Given the description of an element on the screen output the (x, y) to click on. 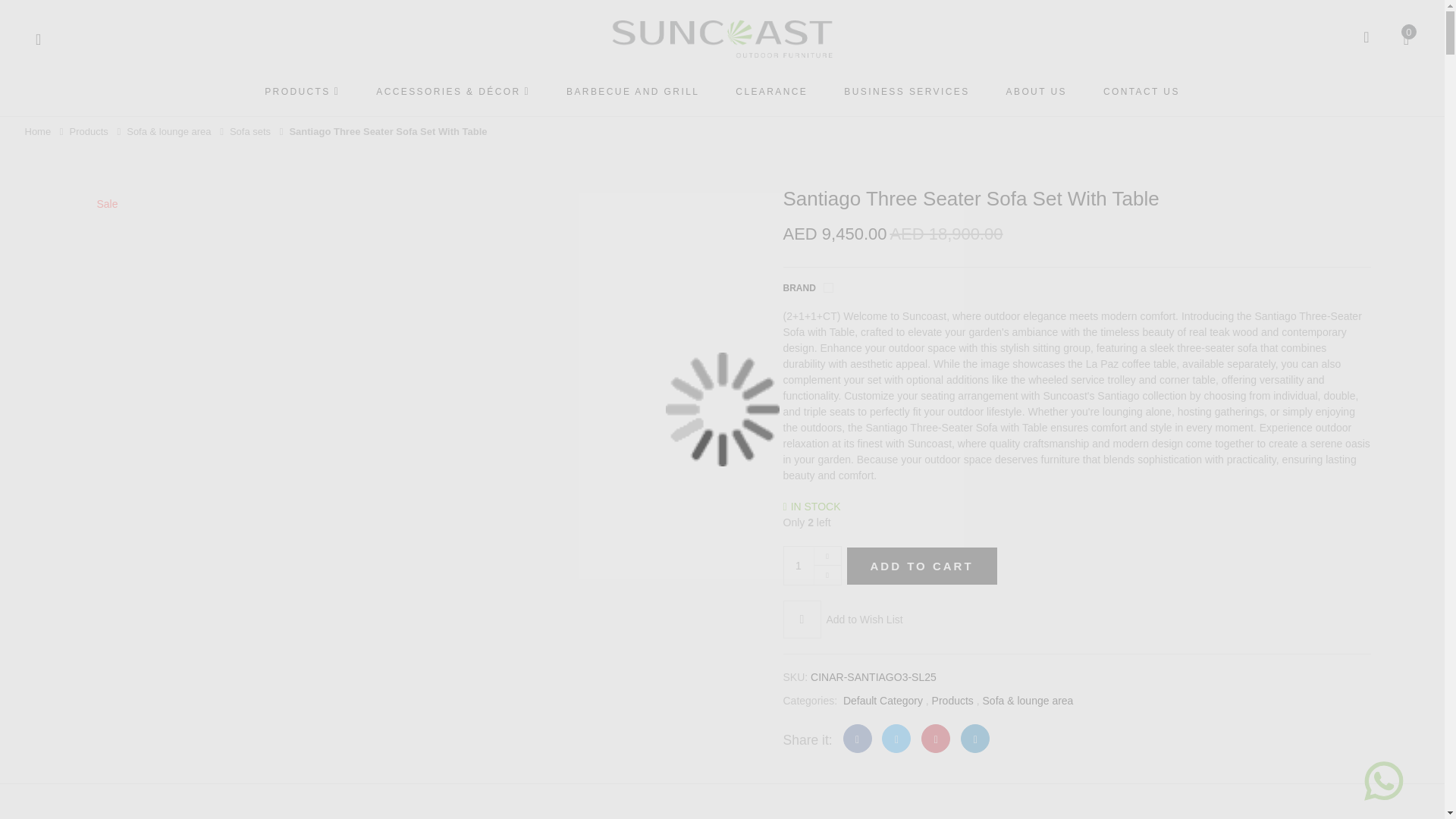
Sofa sets (251, 131)
Availability (811, 506)
Share on LinkedIn (975, 737)
Share on Twitter (896, 737)
Pin this (935, 737)
Add to Cart (920, 565)
Go to Home Page (38, 131)
Only 2 left (1076, 522)
Products (90, 131)
Share on Facebook (857, 737)
